Given the description of an element on the screen output the (x, y) to click on. 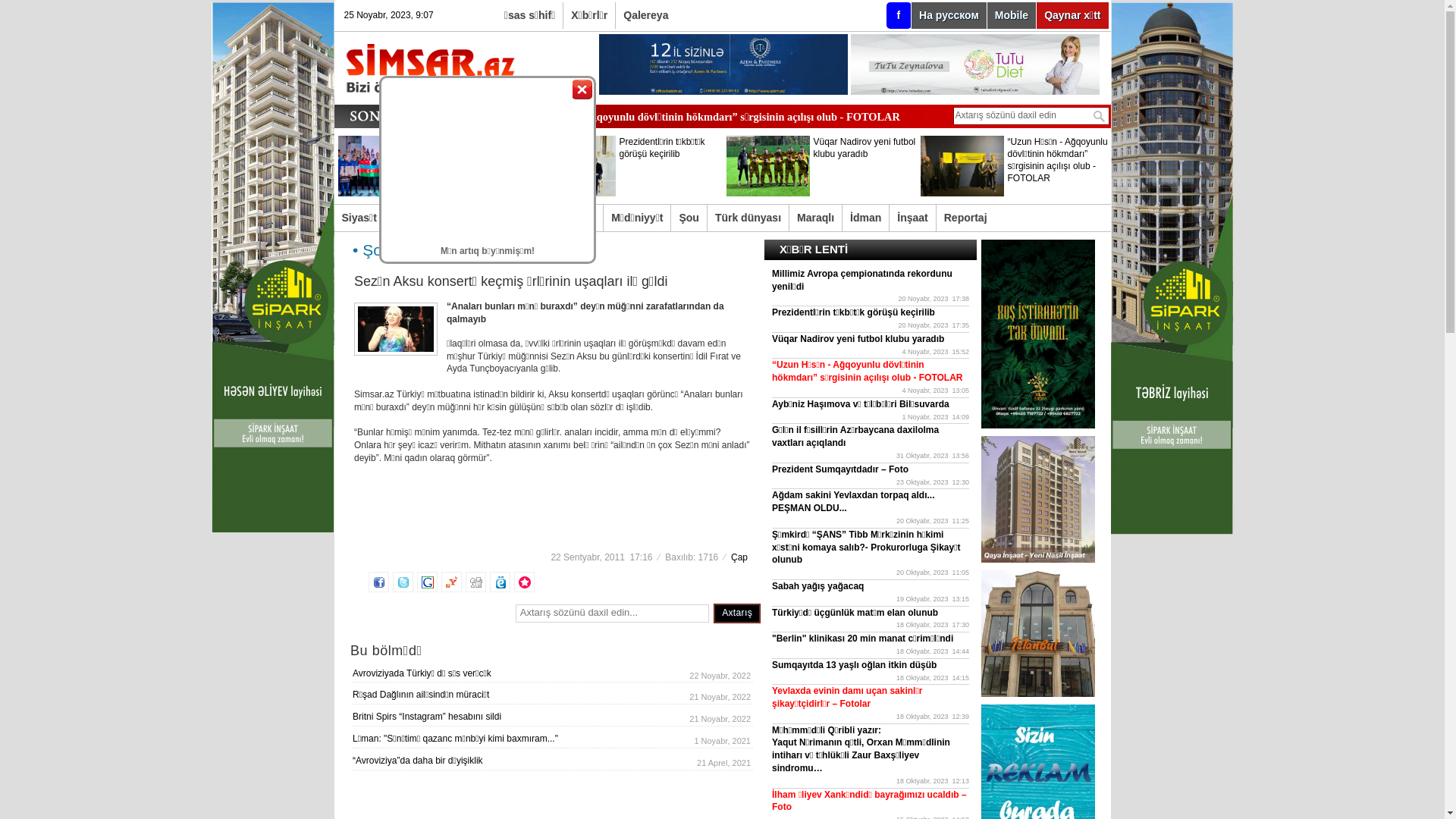
Qalereya Element type: text (645, 15)
Mobile Element type: text (1011, 15)
Reportaj Element type: text (965, 217)
 f  Element type: text (898, 15)
Sosial Element type: text (408, 217)
